Given the description of an element on the screen output the (x, y) to click on. 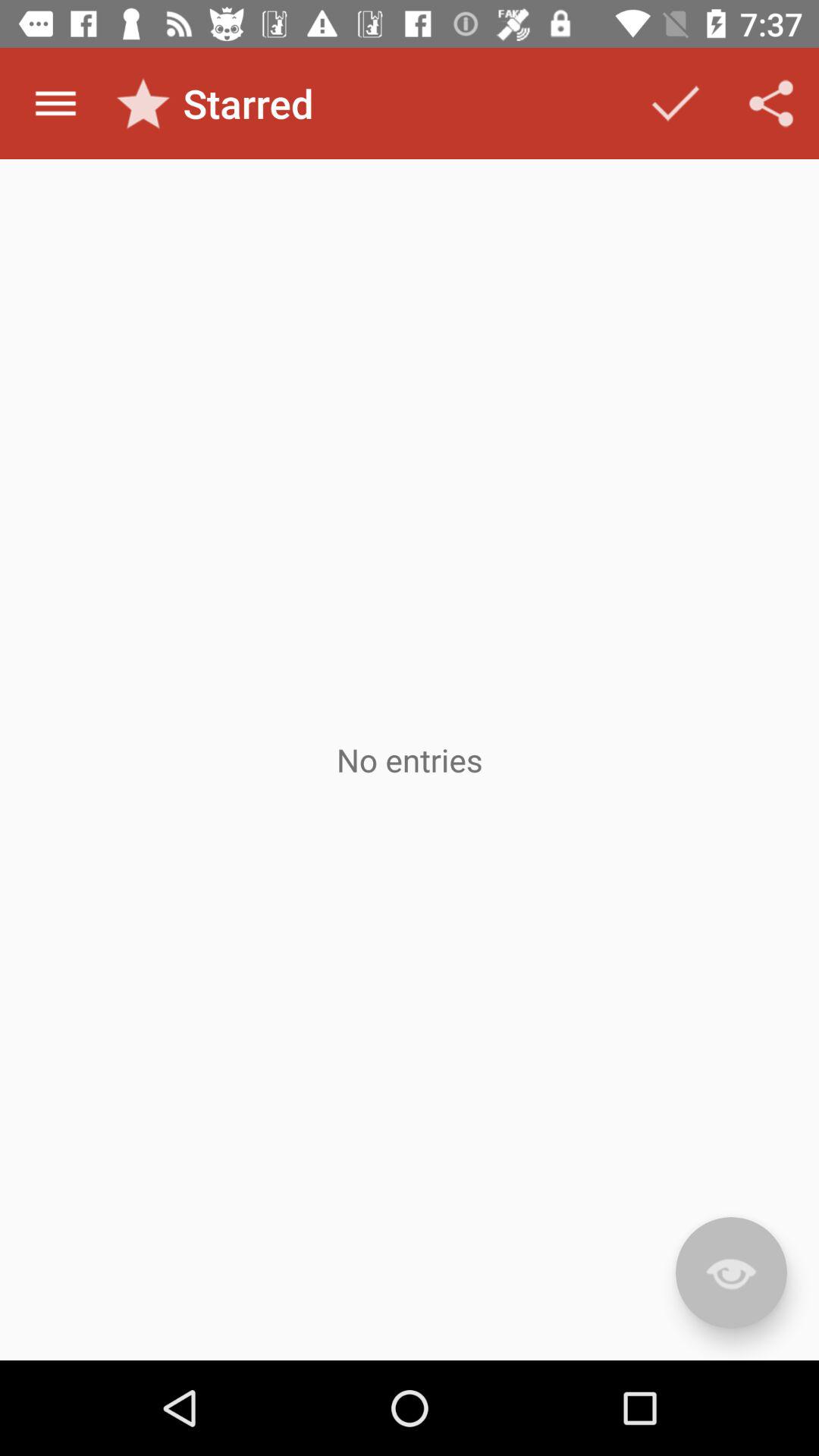
turn off app above no entries item (675, 103)
